Given the description of an element on the screen output the (x, y) to click on. 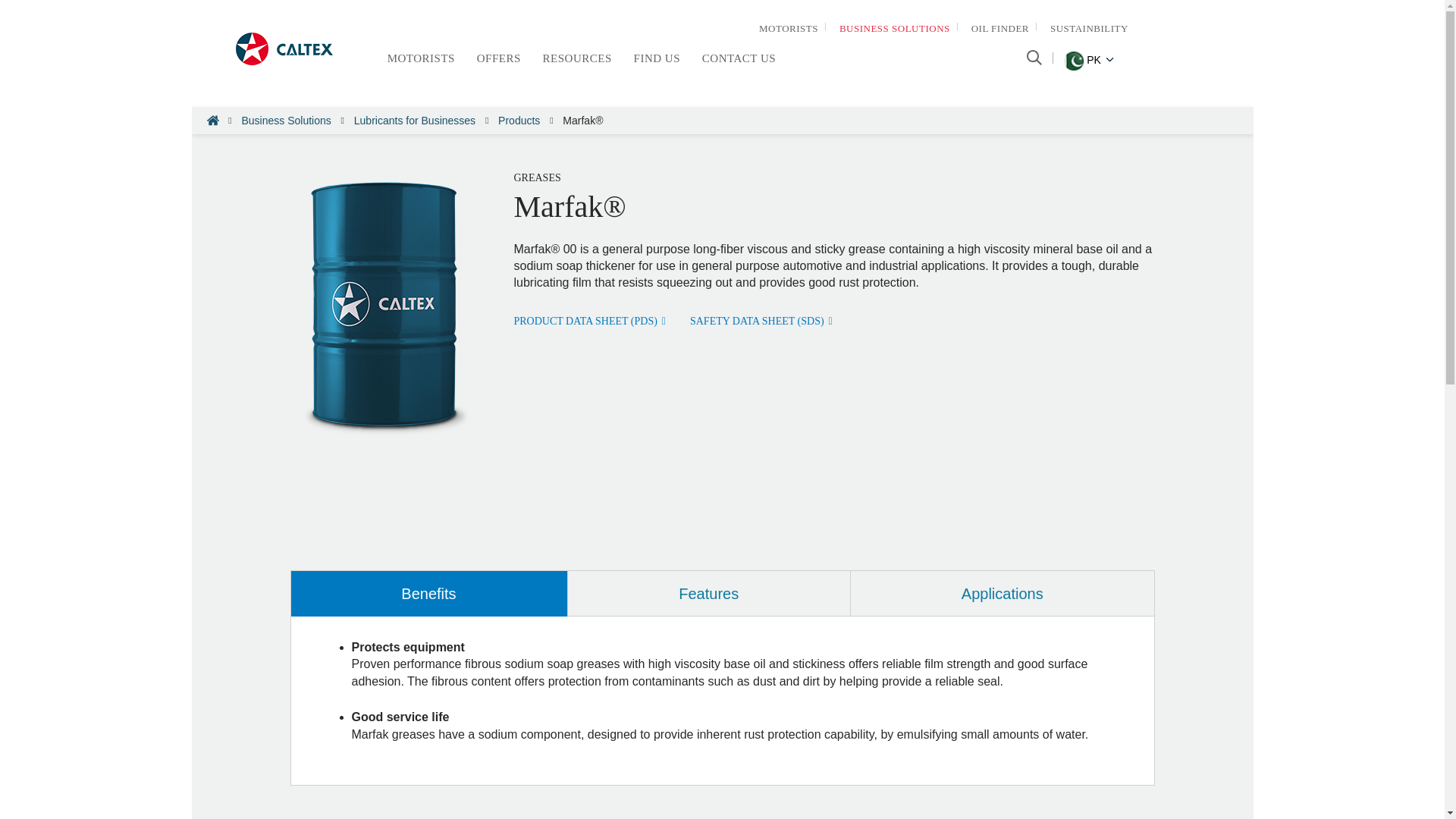
MOTORISTS (420, 58)
OIL FINDER (999, 28)
BUSINESS SOLUTIONS (894, 28)
RESOURCES (577, 58)
OFFERS (499, 58)
SUSTAINBILITY (1088, 28)
FIND US (656, 58)
CONTACT US (738, 58)
MOTORISTS (788, 28)
